Given the description of an element on the screen output the (x, y) to click on. 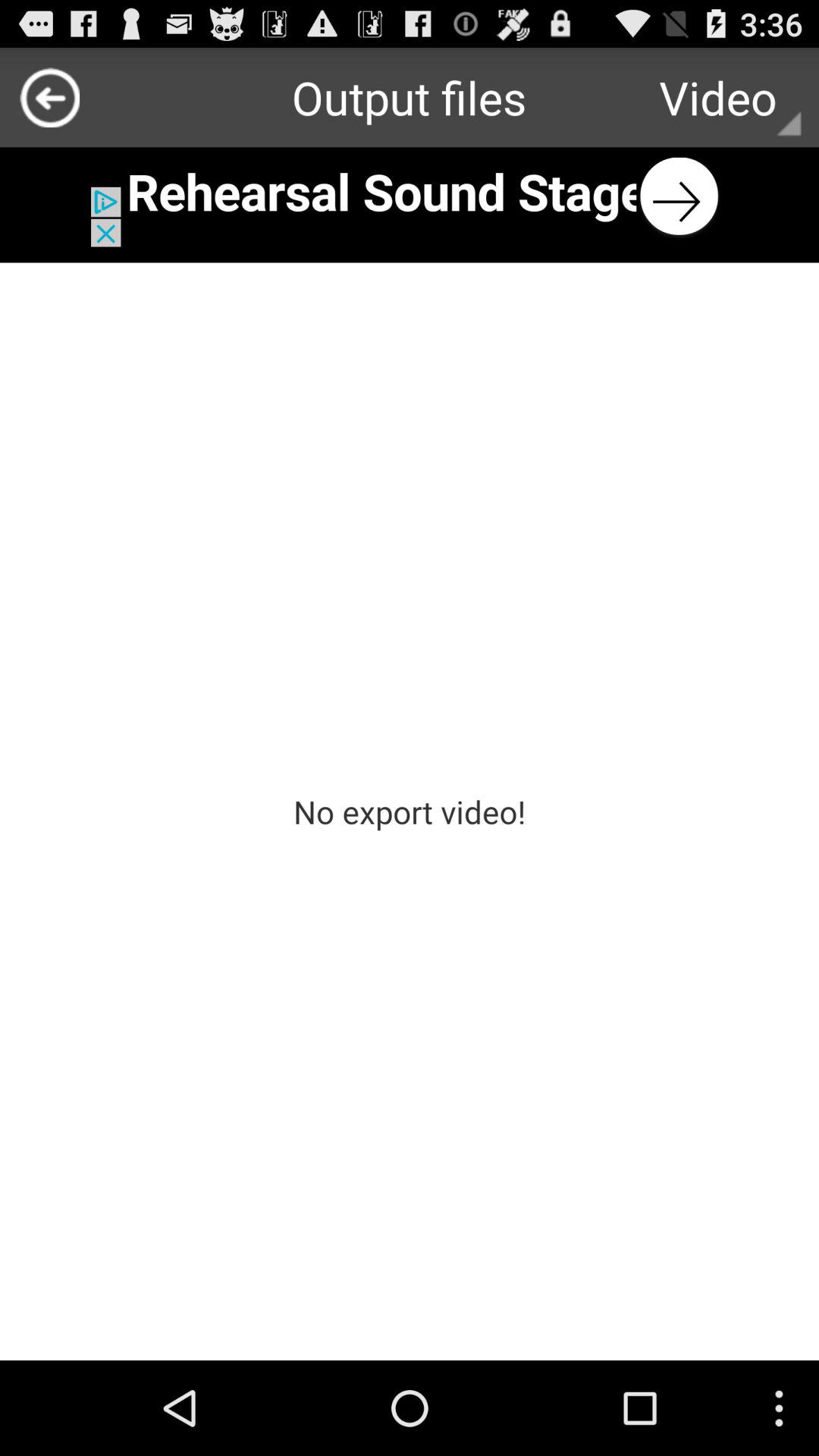
go to previous (49, 97)
